Given the description of an element on the screen output the (x, y) to click on. 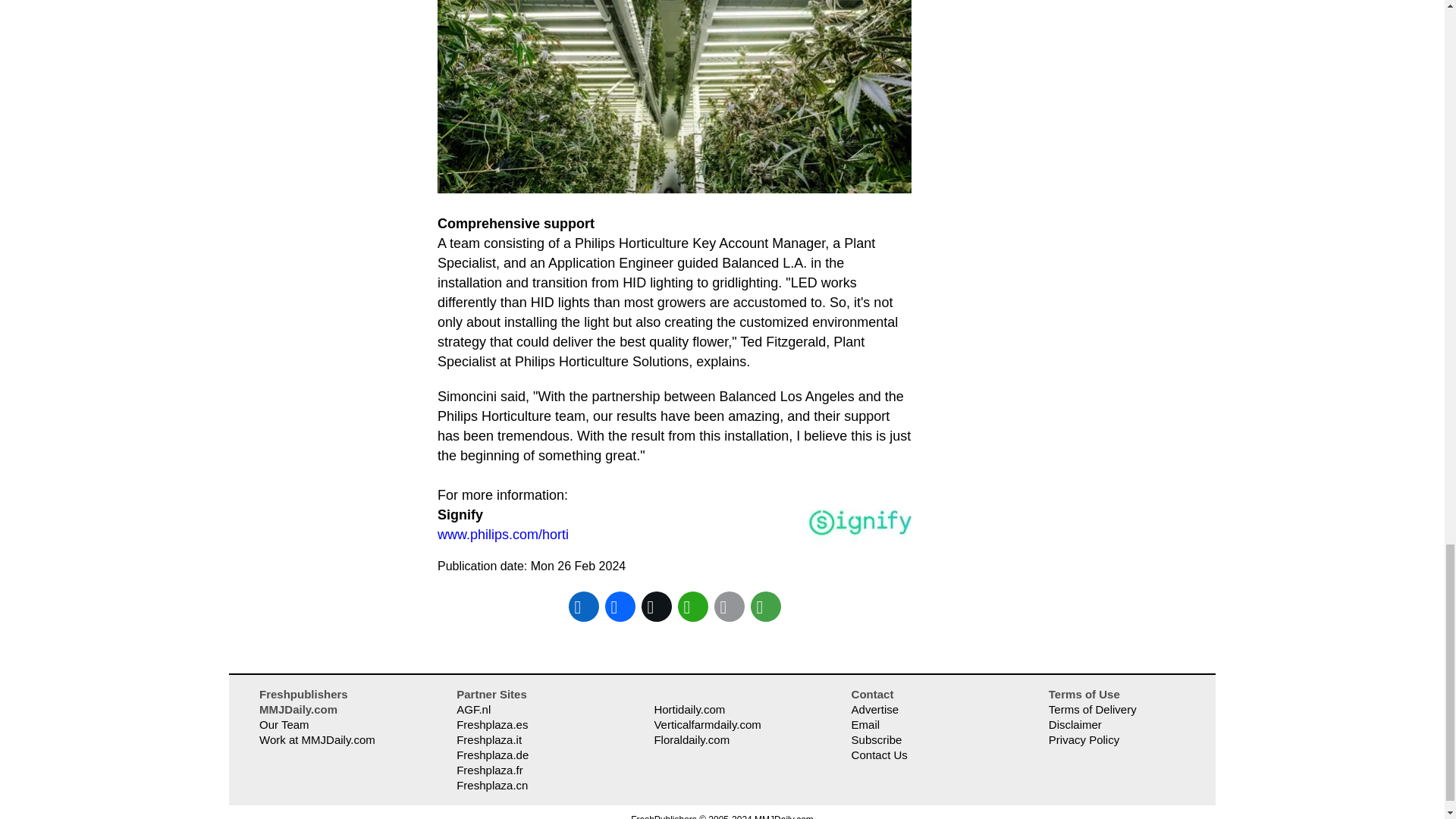
LinkedIn (584, 606)
Facebook (620, 606)
Email This (729, 606)
WhatsApp (693, 606)
More Options (766, 606)
